Given the description of an element on the screen output the (x, y) to click on. 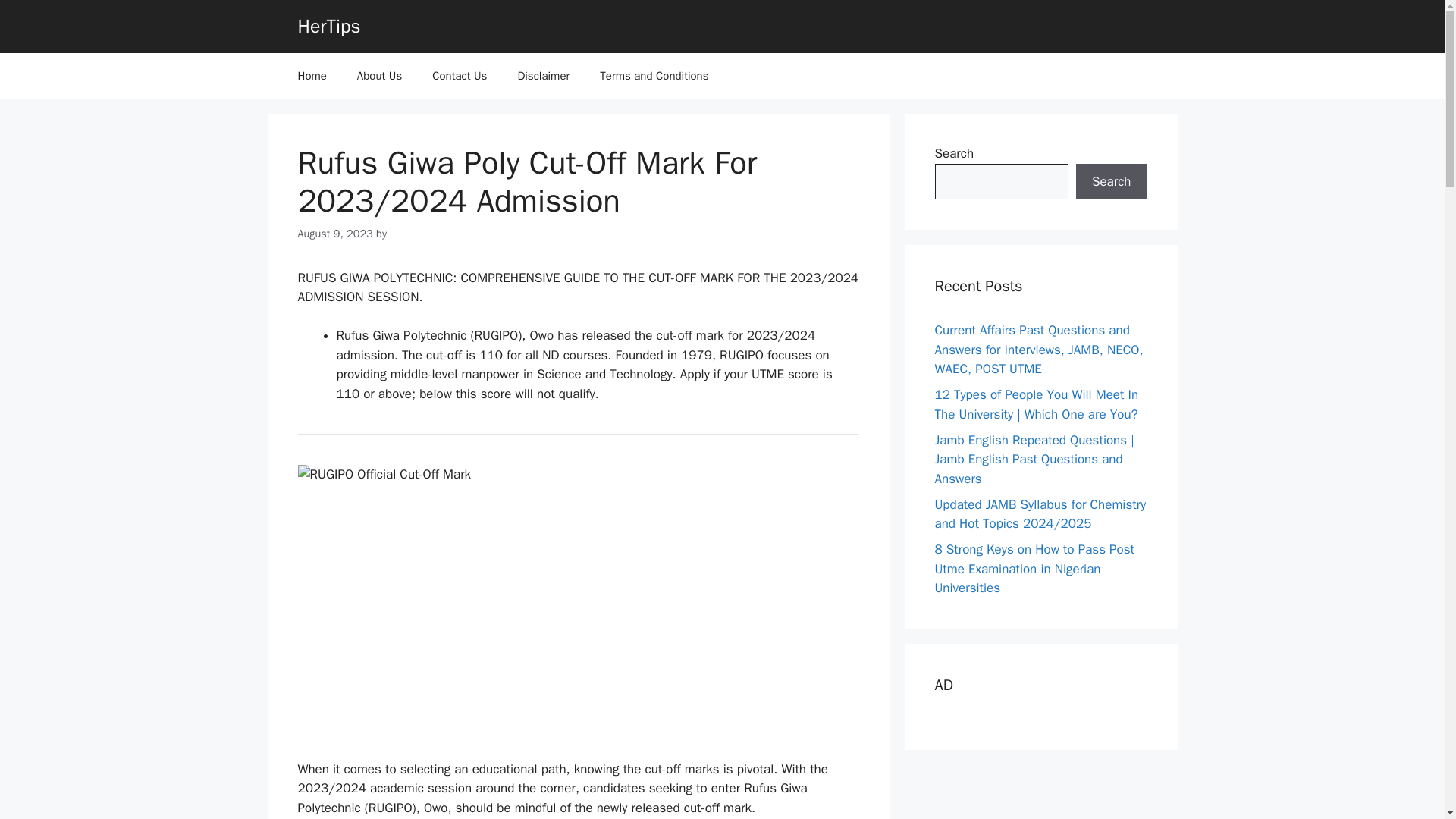
Search (1111, 181)
About Us (379, 75)
Contact Us (459, 75)
HerTips (328, 25)
Disclaimer (543, 75)
Terms and Conditions (654, 75)
Home (311, 75)
